Given the description of an element on the screen output the (x, y) to click on. 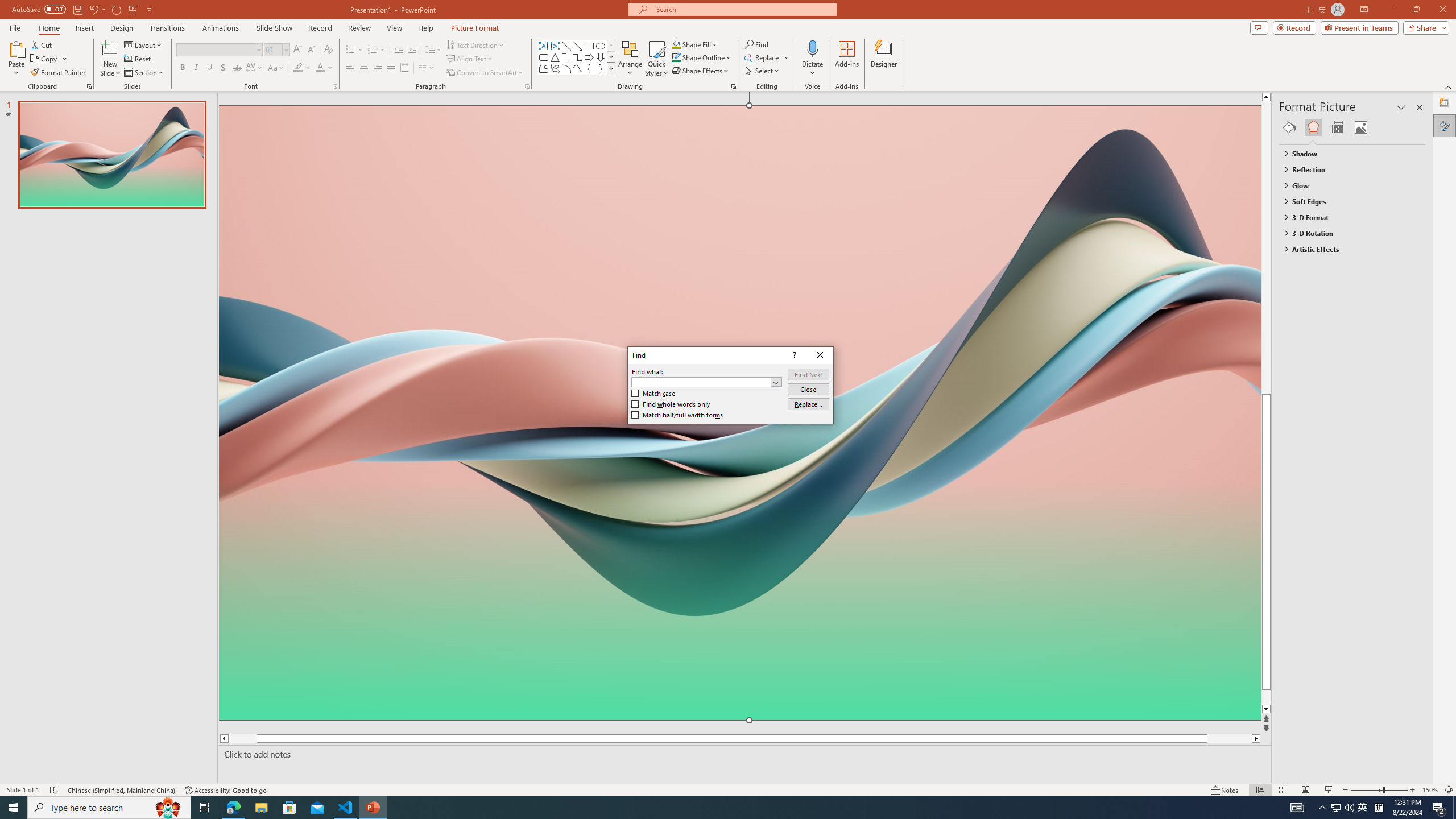
Select (762, 69)
Search highlights icon opens search home window (167, 807)
Slide Notes (742, 754)
Oval (600, 45)
Connector: Elbow (566, 57)
Shape Fill (694, 44)
Decrease Font Size (310, 49)
Tray Input Indicator - Chinese (Simplified, China) (1378, 807)
File Explorer (261, 807)
Quick Styles (656, 58)
AutomationID: 4105 (1297, 807)
